Given the description of an element on the screen output the (x, y) to click on. 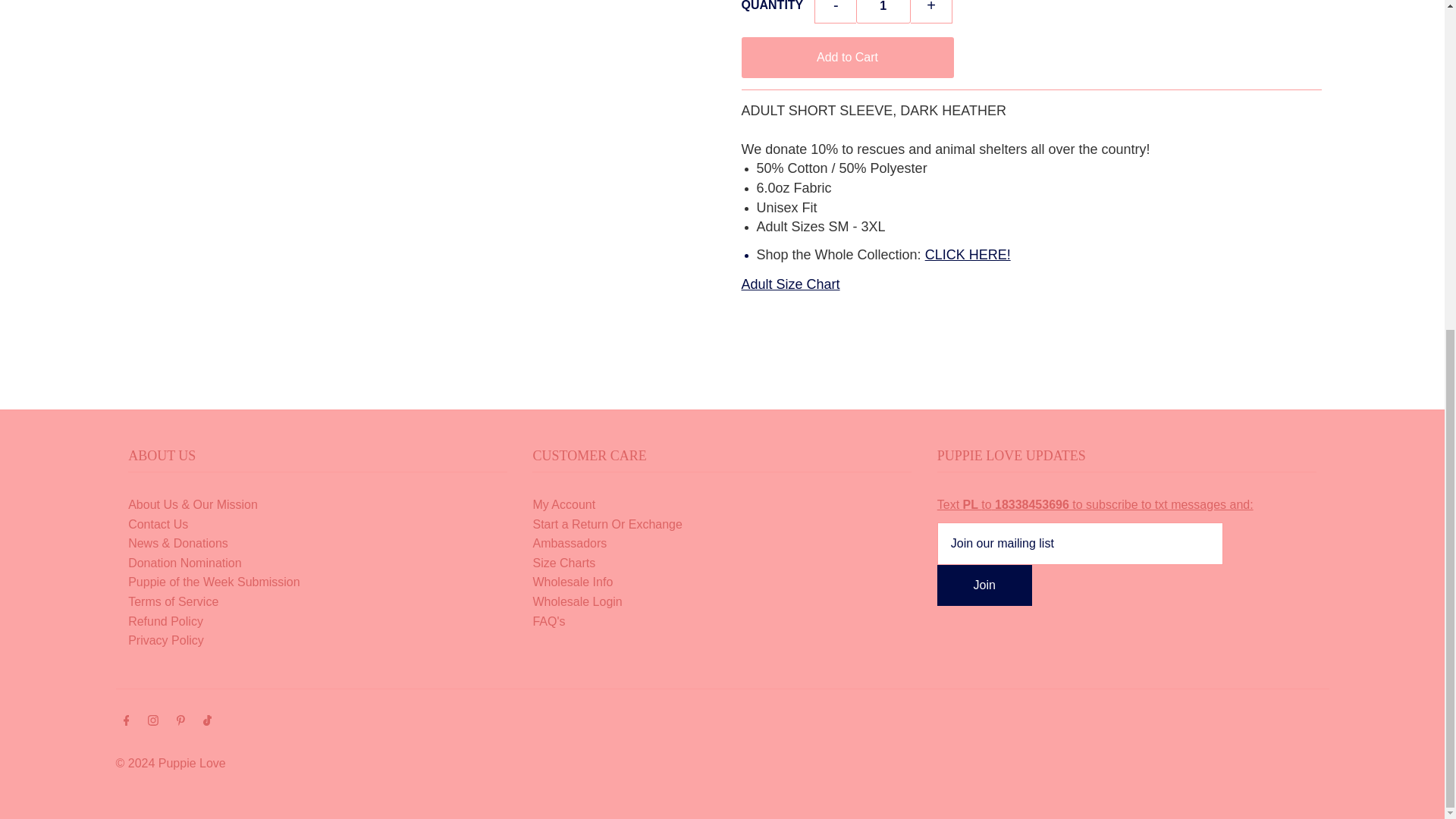
Newsletter (1095, 504)
Join (984, 585)
1 (883, 11)
Add to Cart (847, 56)
